Given the description of an element on the screen output the (x, y) to click on. 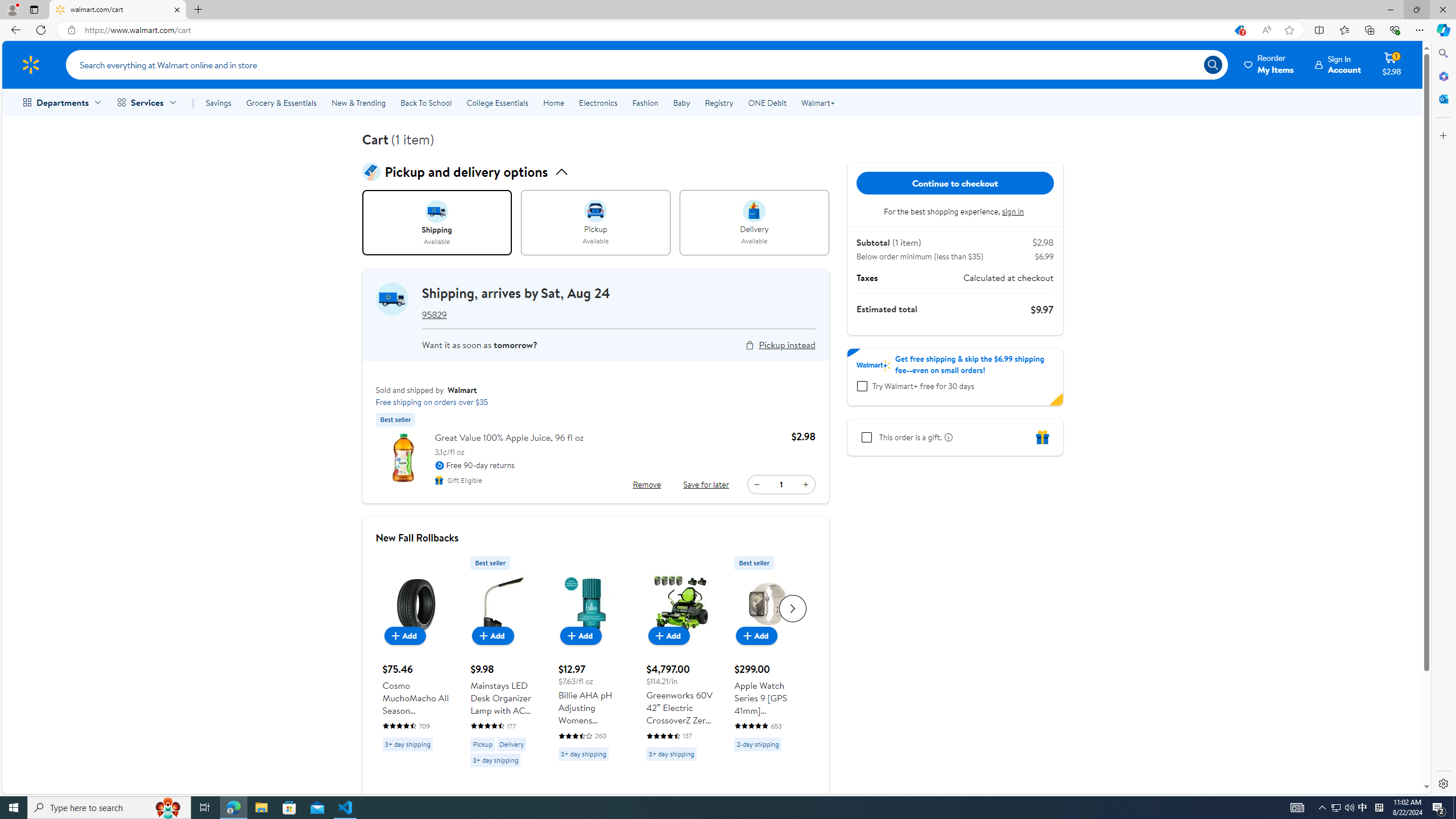
ONE Debit (767, 102)
New & Trending (358, 102)
College Essentials (496, 102)
Electronics (598, 102)
This order is a gift. (866, 437)
Walmart Homepage (30, 64)
Savings (217, 102)
Pickup instead (786, 344)
